Given the description of an element on the screen output the (x, y) to click on. 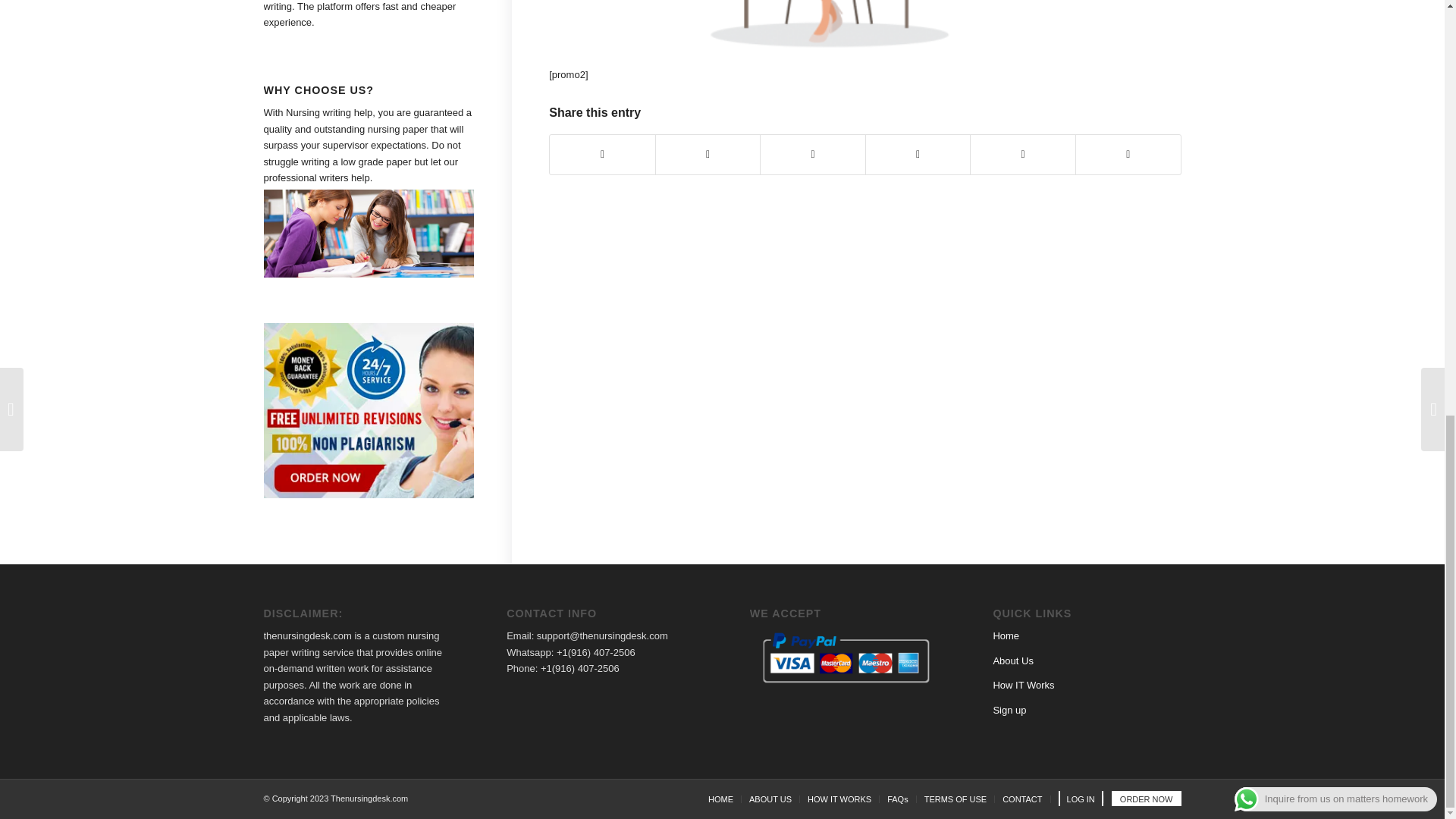
HOW IT WORKS (839, 798)
HOME (720, 798)
ABOUT US (770, 798)
ORDER NOW (1146, 799)
LOG IN (1080, 799)
TERMS OF USE (955, 798)
FAQs (897, 798)
CONTACT (1022, 798)
Sign up (1009, 709)
How IT Works (1023, 685)
About Us (1012, 660)
Home (1005, 635)
